Given the description of an element on the screen output the (x, y) to click on. 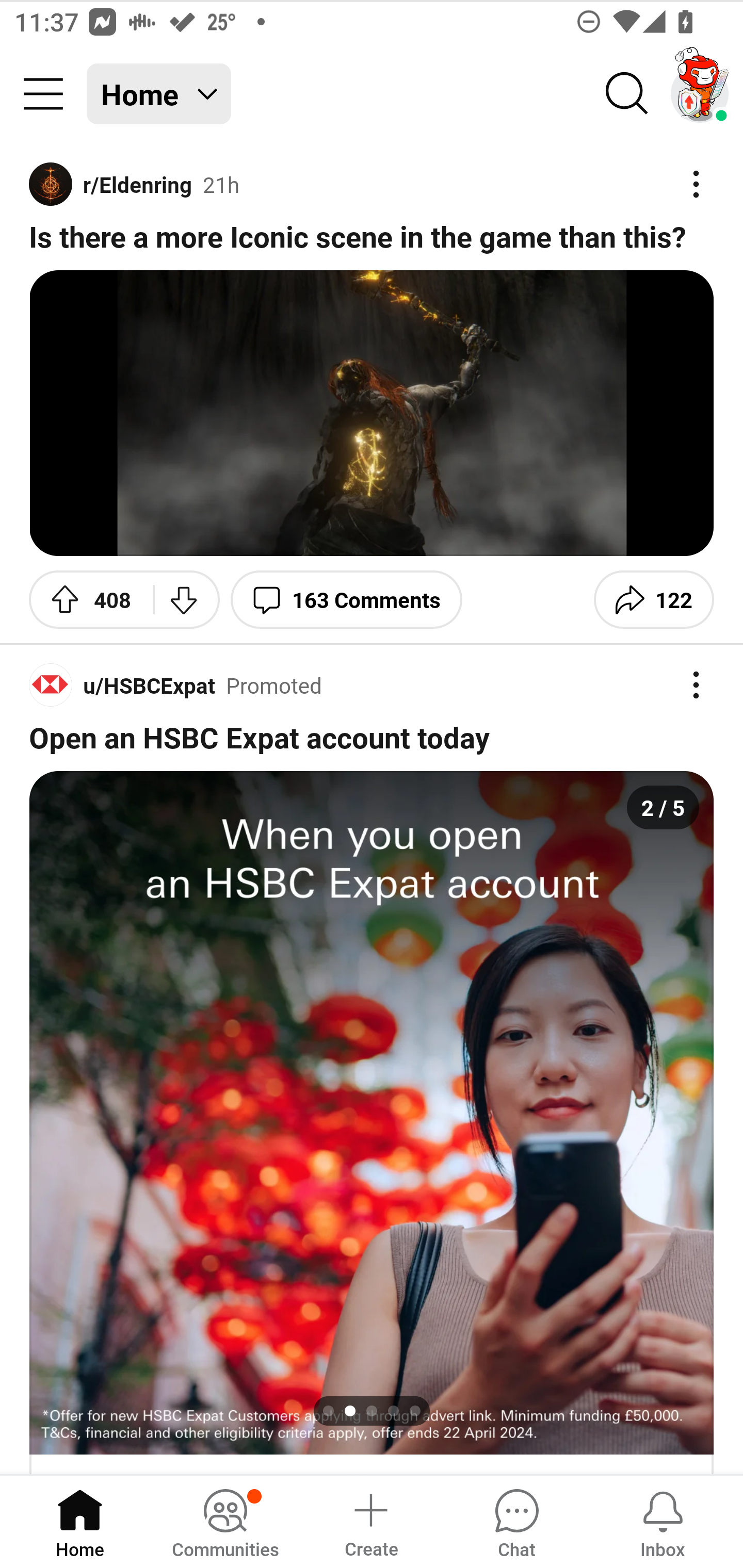
Community menu (43, 93)
Home Home feed (158, 93)
Search (626, 93)
TestAppium002 account (699, 93)
Image 2 of 5 (371, 1113)
Home (80, 1520)
Communities, has notifications Communities (225, 1520)
Create a post Create (370, 1520)
Chat (516, 1520)
Inbox (662, 1520)
